Given the description of an element on the screen output the (x, y) to click on. 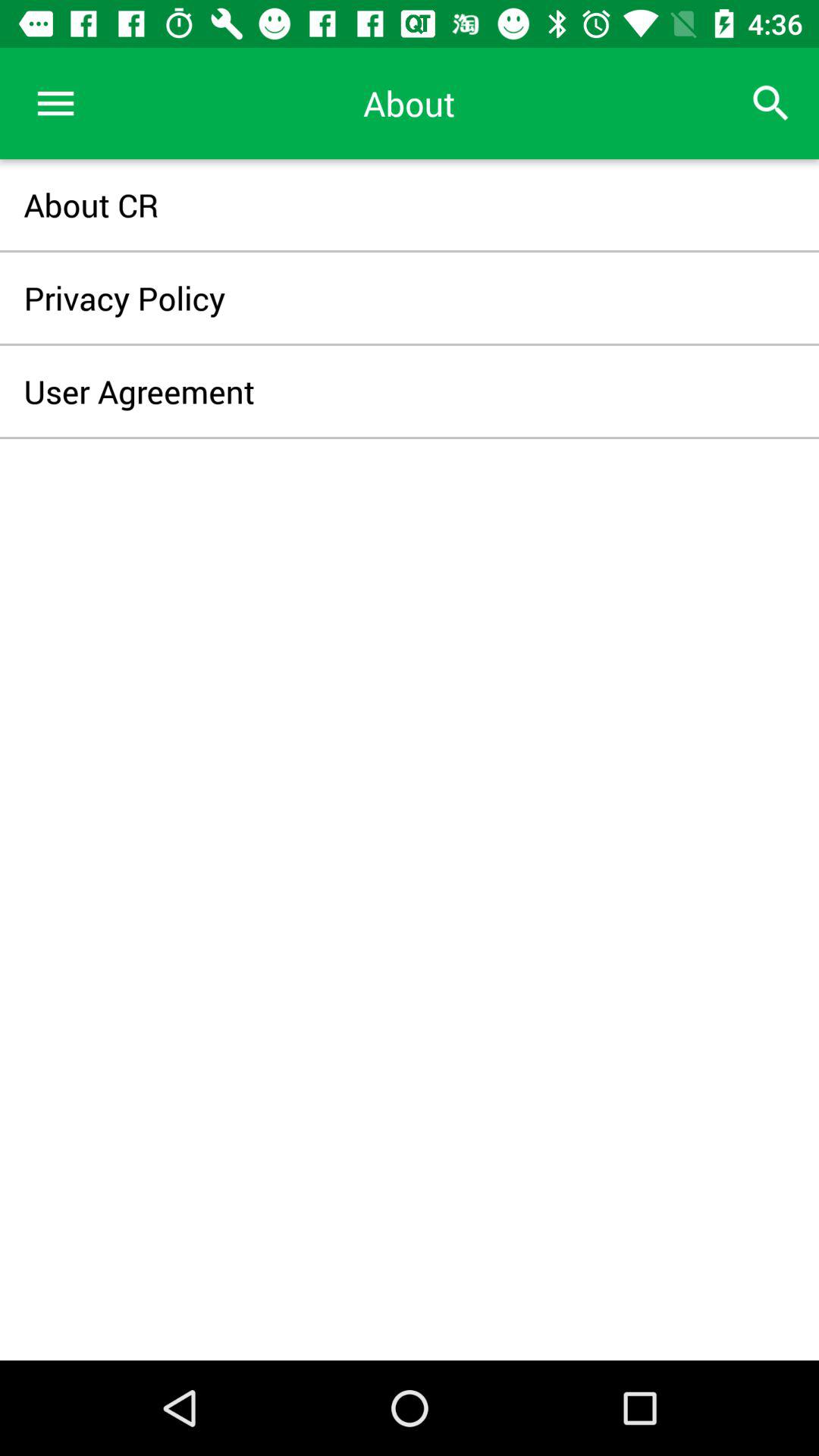
tap icon to the left of the about icon (55, 103)
